Given the description of an element on the screen output the (x, y) to click on. 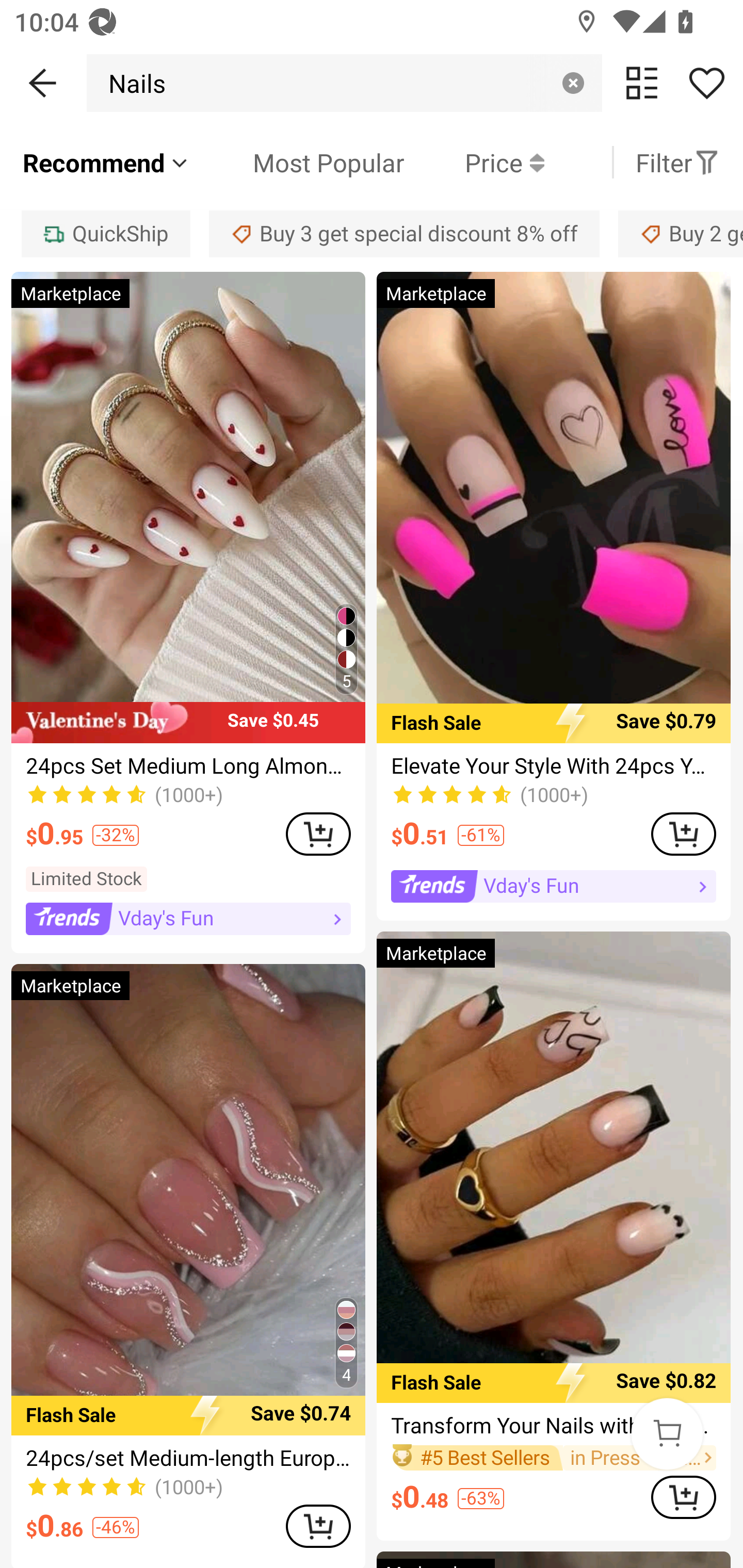
Nails Clear (343, 82)
Nails (131, 82)
Clear (572, 82)
change view (641, 82)
Share (706, 82)
Recommend (106, 162)
Most Popular (297, 162)
Price (474, 162)
Filter (677, 162)
QuickShip (105, 233)
Buy 3 get special discount 8% off (403, 233)
Buy 2 get special discount 30% off (680, 233)
ADD TO CART (318, 834)
ADD TO CART (683, 834)
Vday's Fun (553, 886)
Vday's Fun (188, 918)
#5 Best Sellers in Press On Nails (553, 1457)
ADD TO CART (683, 1497)
ADD TO CART (318, 1526)
